Given the description of an element on the screen output the (x, y) to click on. 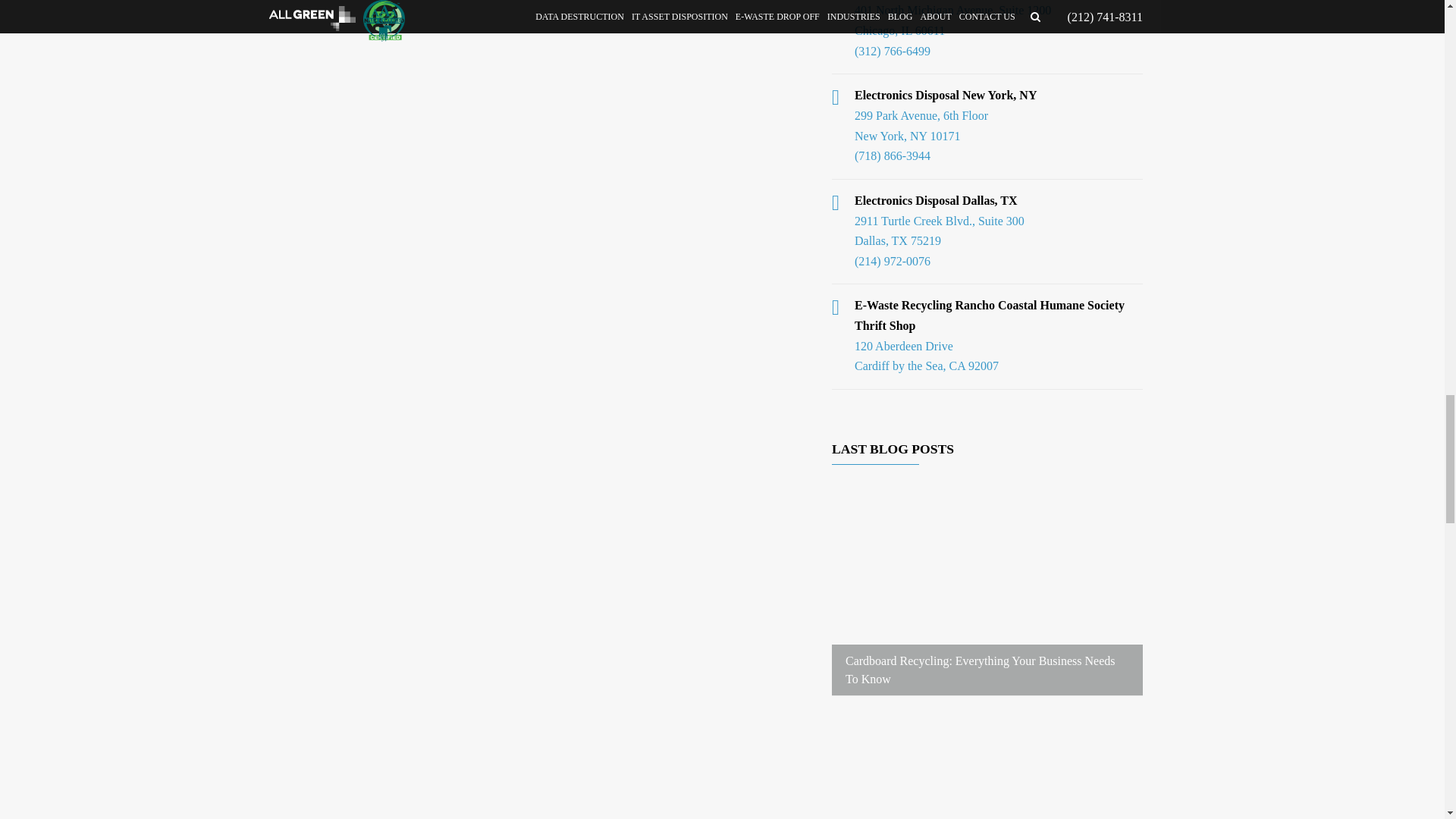
Cardboard Recycling: Everything Your Business Needs To Know (980, 669)
Recycling equipment and mandated laws 5 (986, 769)
